Given the description of an element on the screen output the (x, y) to click on. 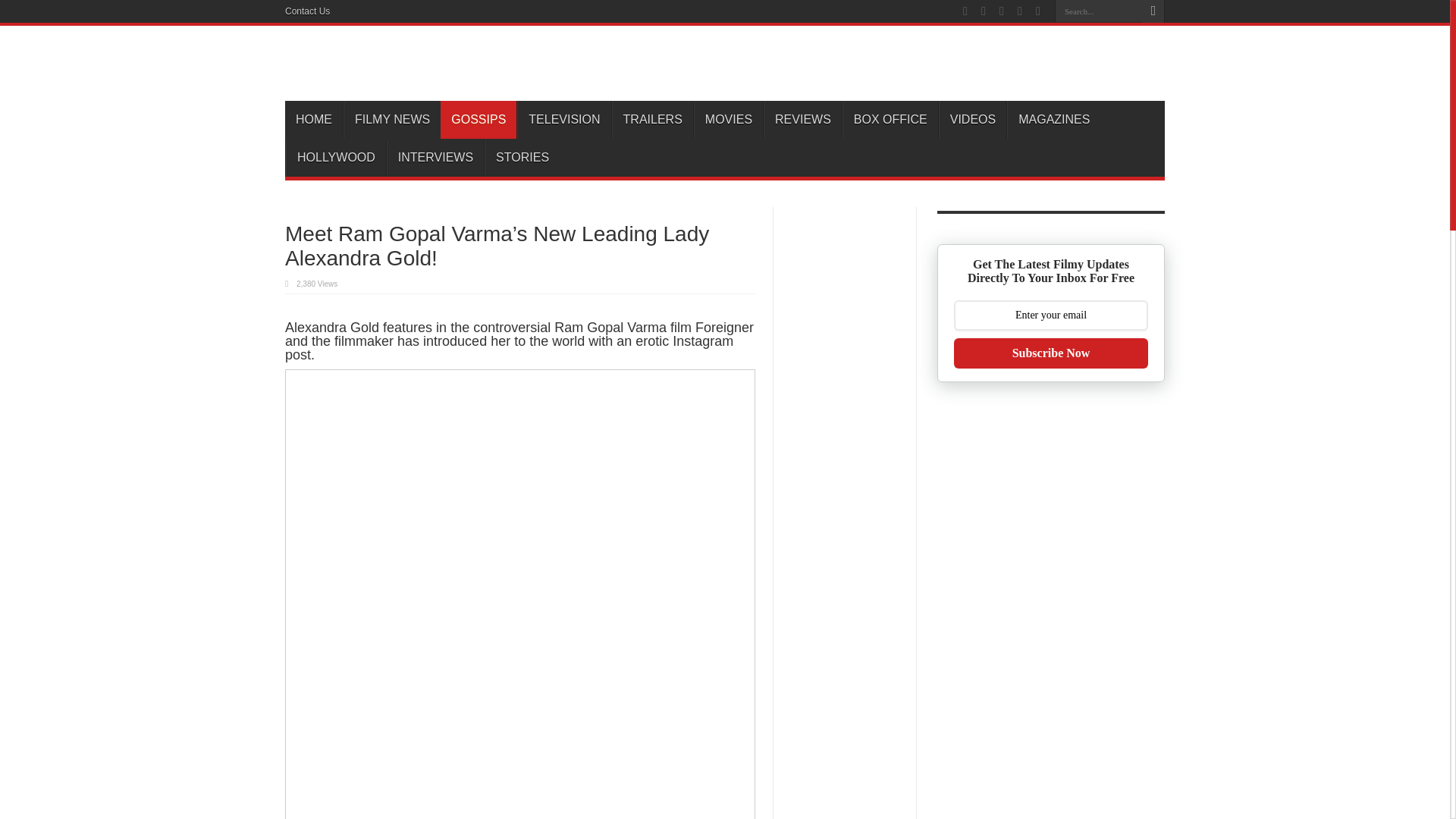
HOME (313, 119)
Contact Us (307, 11)
INTERVIEWS (435, 157)
BOX OFFICE (890, 119)
TRAILERS (652, 119)
FILMY NEWS (392, 119)
STORIES (521, 157)
GOSSIPS (478, 119)
MAGAZINES (1053, 119)
Search (1152, 11)
